Given the description of an element on the screen output the (x, y) to click on. 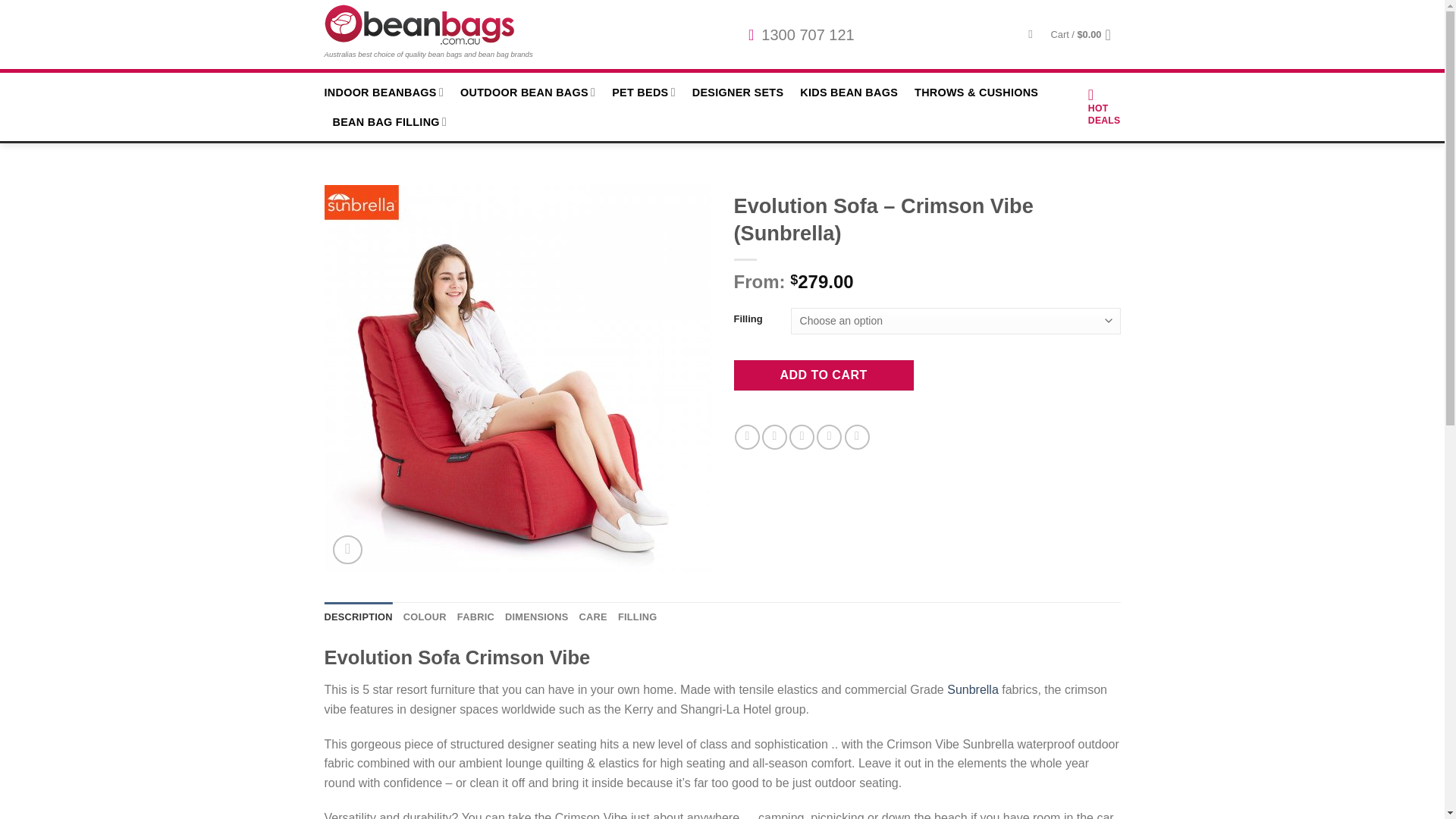
Pin on Pinterest (828, 437)
Share on LinkedIn (856, 437)
1300 707 121 (801, 34)
OUTDOOR BEAN BAGS (527, 91)
PET BEDS (643, 91)
Cart (1086, 34)
INDOOR BEANBAGS (384, 91)
Share on Twitter (774, 437)
